Given the description of an element on the screen output the (x, y) to click on. 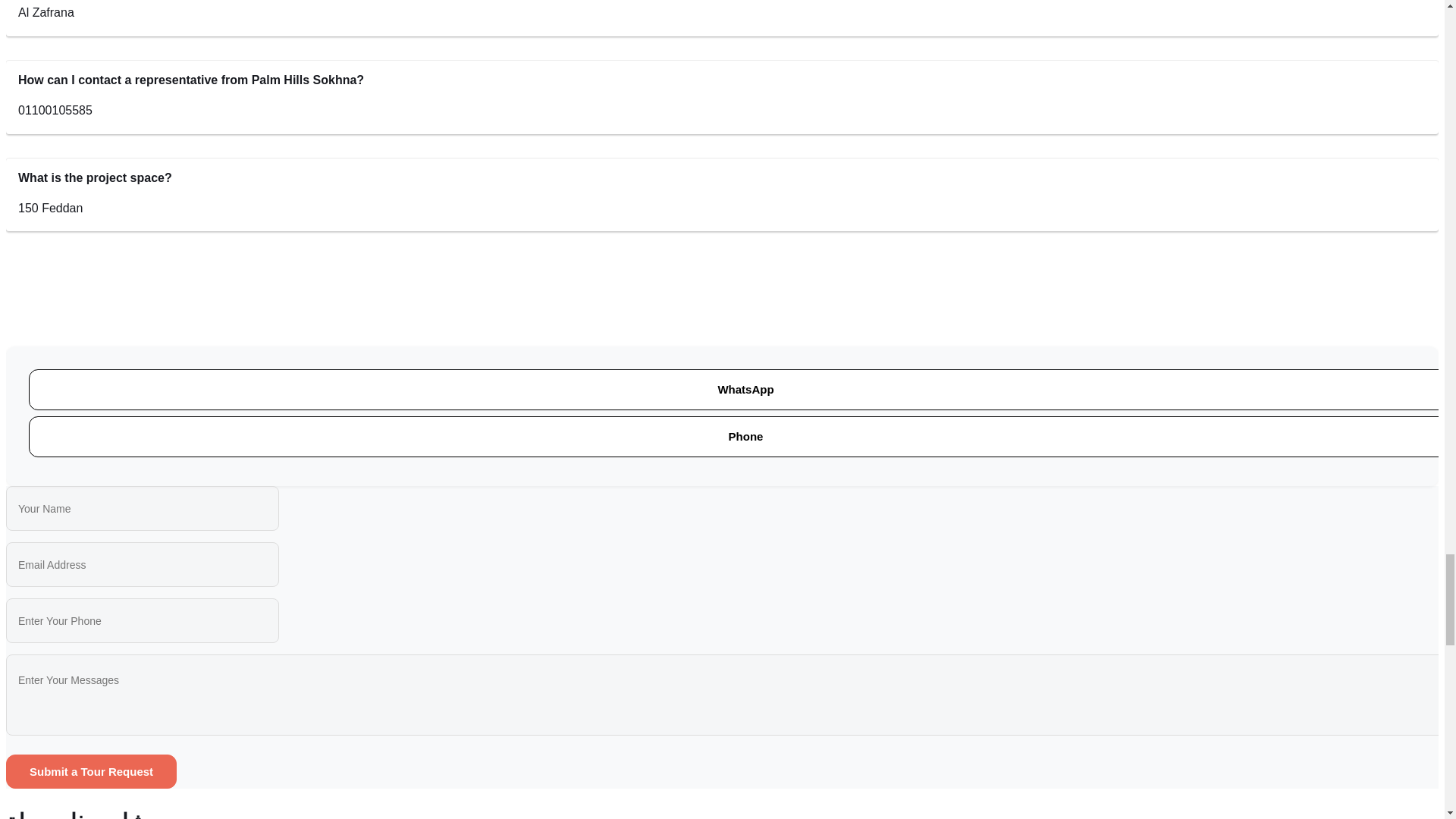
Submit a Tour Request (90, 771)
Submit a Tour Request (90, 771)
